Given the description of an element on the screen output the (x, y) to click on. 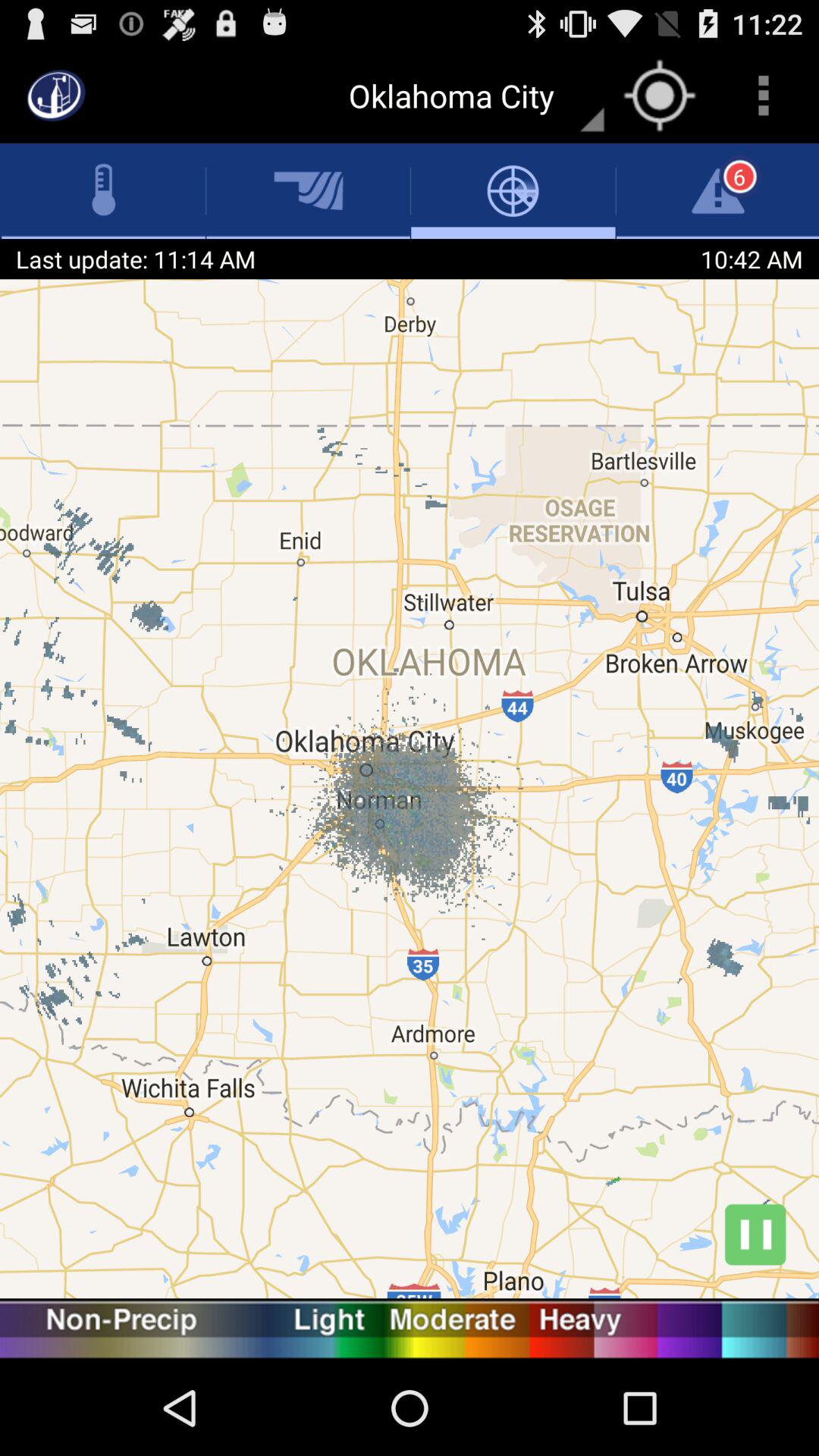
select the icon which is immediate next to the thermometer icon (308, 191)
select the icon which is  right to the oklahoma city (659, 95)
click on the icon which is above the temperature icon (55, 95)
select the number on the icon which is on top at the right corner (740, 176)
select nonprecip (69, 1328)
click options button (763, 95)
click temperature icon (103, 190)
select the pause button (755, 1234)
select oklahoma city in the menu bar (467, 95)
select the pause button in the map (755, 1234)
